Given the description of an element on the screen output the (x, y) to click on. 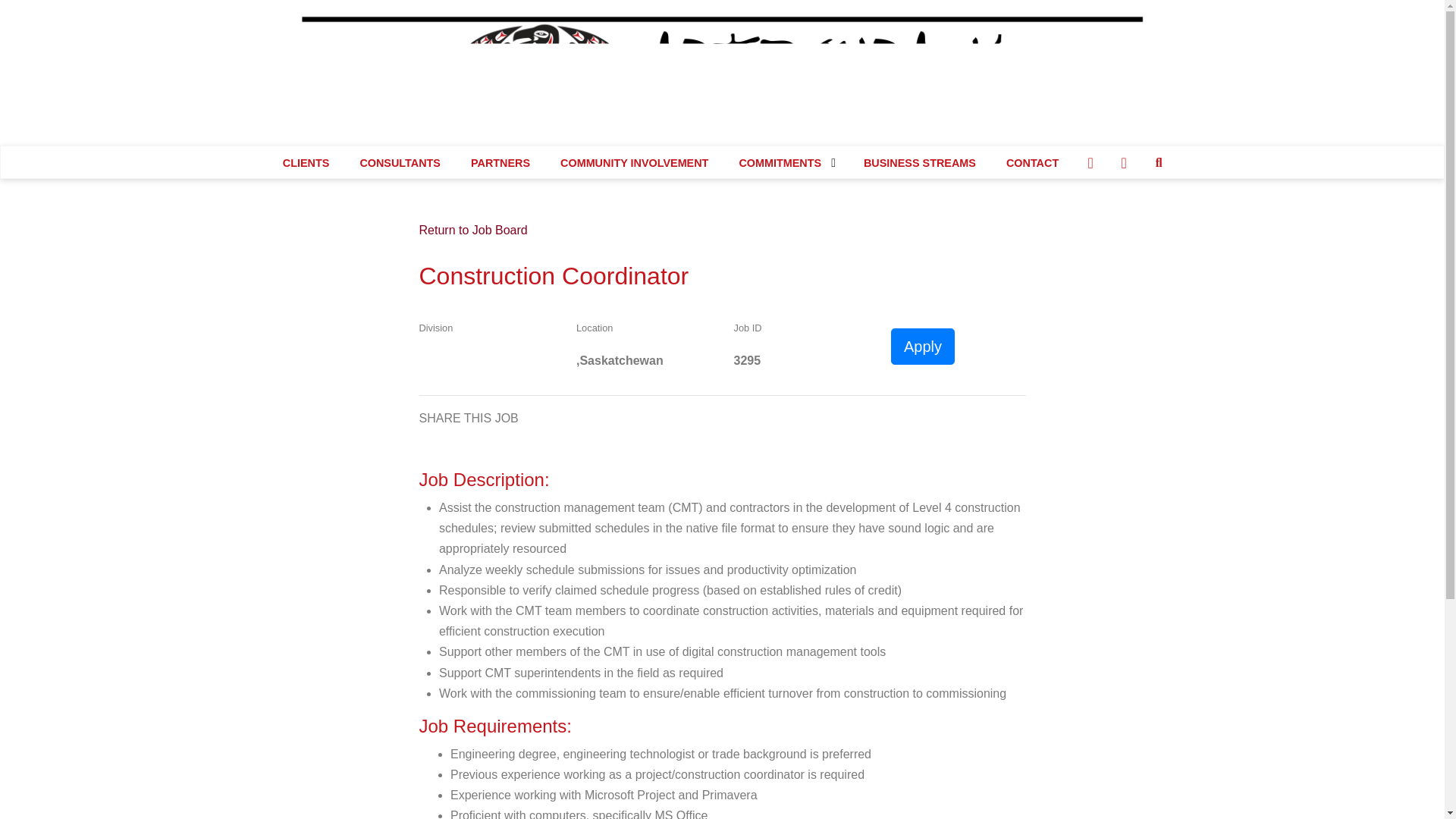
COMMITMENTS (785, 162)
Return to Job Board (473, 229)
CONTACT (1032, 162)
CLIENTS (306, 162)
PARTNERS (499, 162)
BUSINESS STREAMS (919, 162)
COMMUNITY INVOLVEMENT (633, 162)
Apply (923, 346)
CONSULTANTS (399, 162)
